Given the description of an element on the screen output the (x, y) to click on. 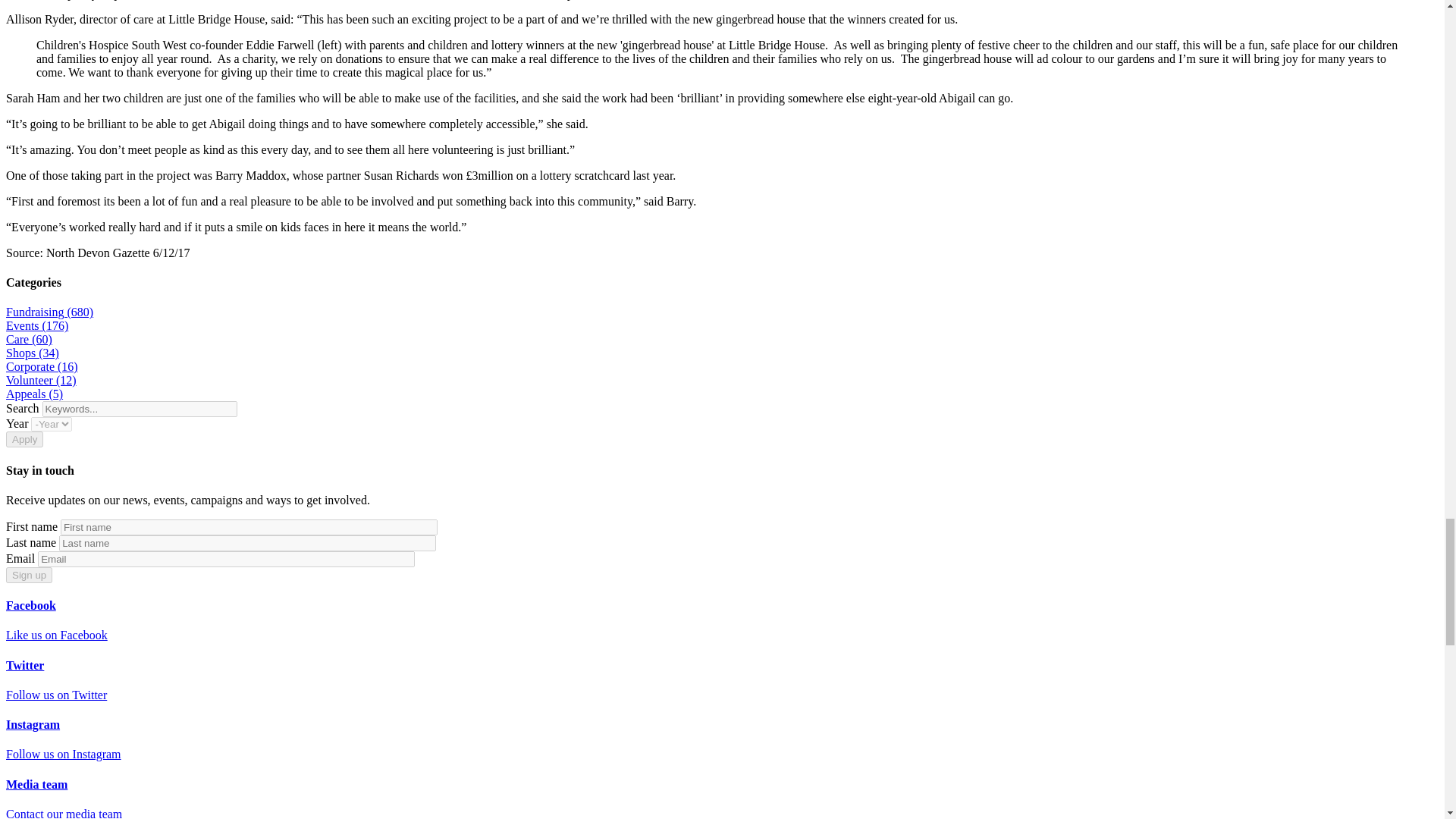
Apply (24, 439)
Sign up (28, 575)
